Given the description of an element on the screen output the (x, y) to click on. 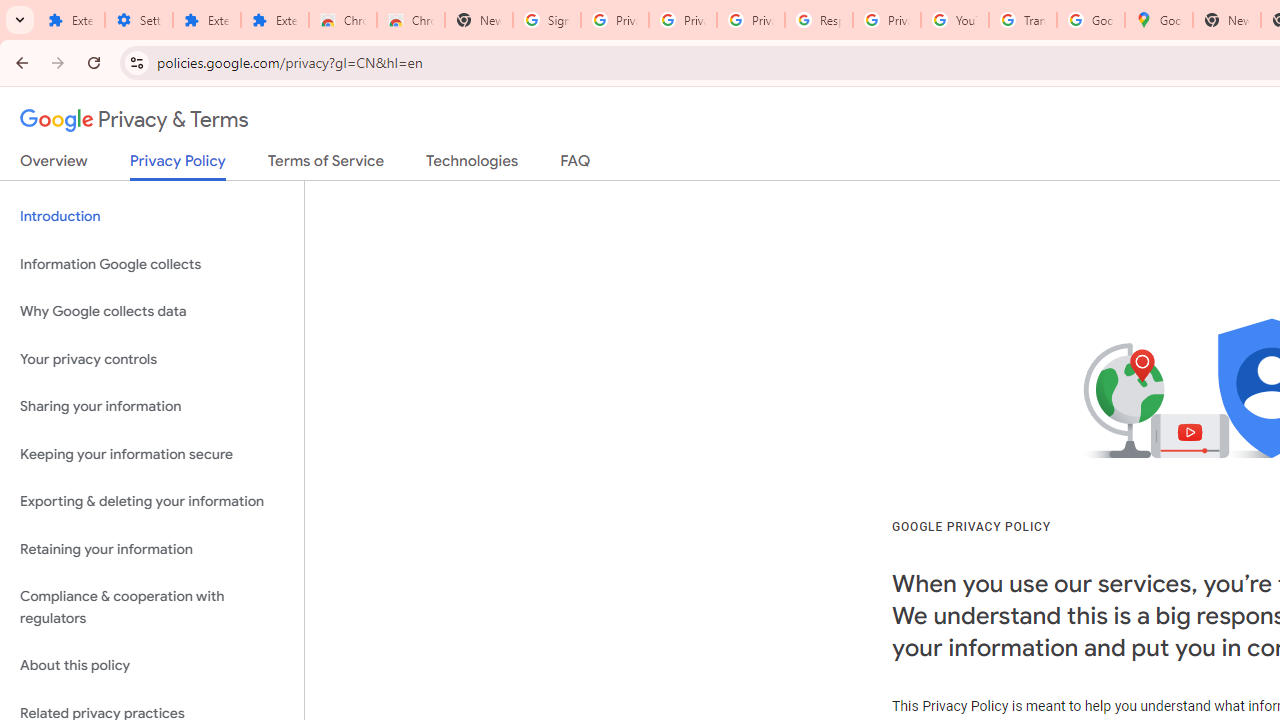
Chrome Web Store (342, 20)
New Tab (1226, 20)
Extensions (70, 20)
